Given the description of an element on the screen output the (x, y) to click on. 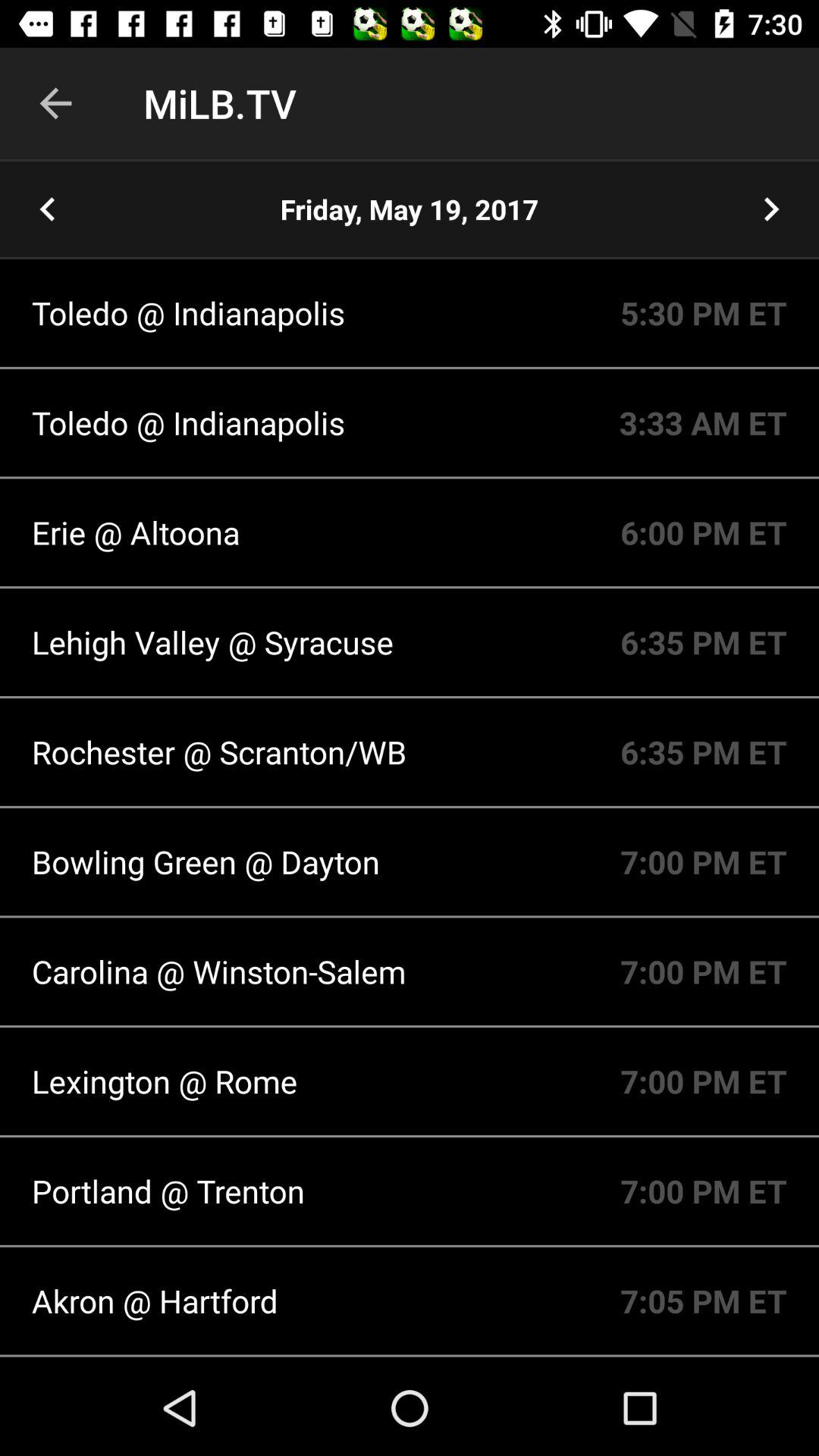
go next date (771, 209)
